Given the description of an element on the screen output the (x, y) to click on. 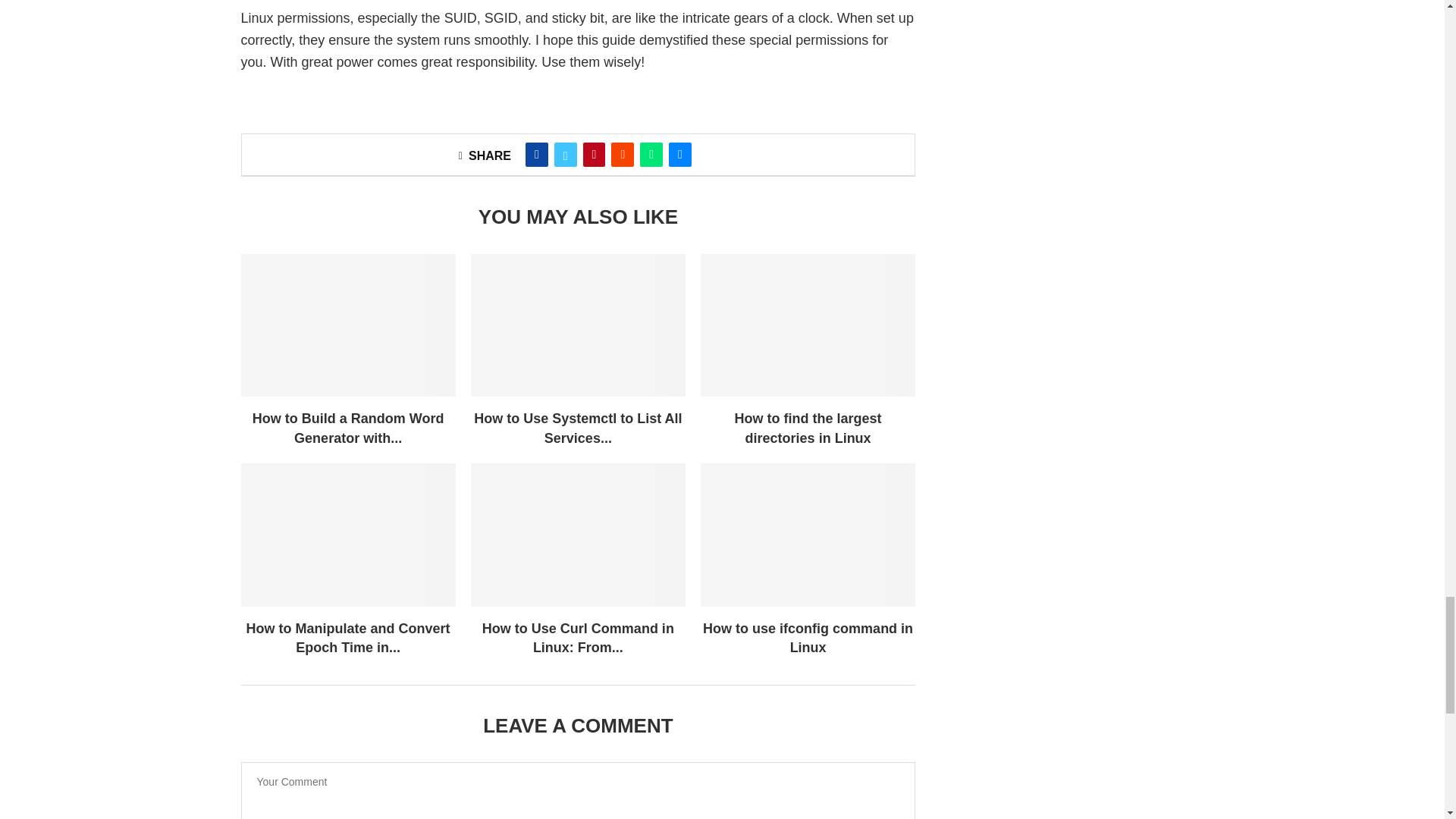
How to find the largest directories in Linux (807, 325)
How to Build a Random Word Generator with Bash in Linux (348, 325)
How to Use Curl Command in Linux: From Basics to Advanced (577, 534)
How to use ifconfig command in Linux (807, 534)
How to Manipulate and Convert Epoch Time in Linux (348, 534)
How to Use Systemctl to List All Services in Linux (577, 325)
